Given the description of an element on the screen output the (x, y) to click on. 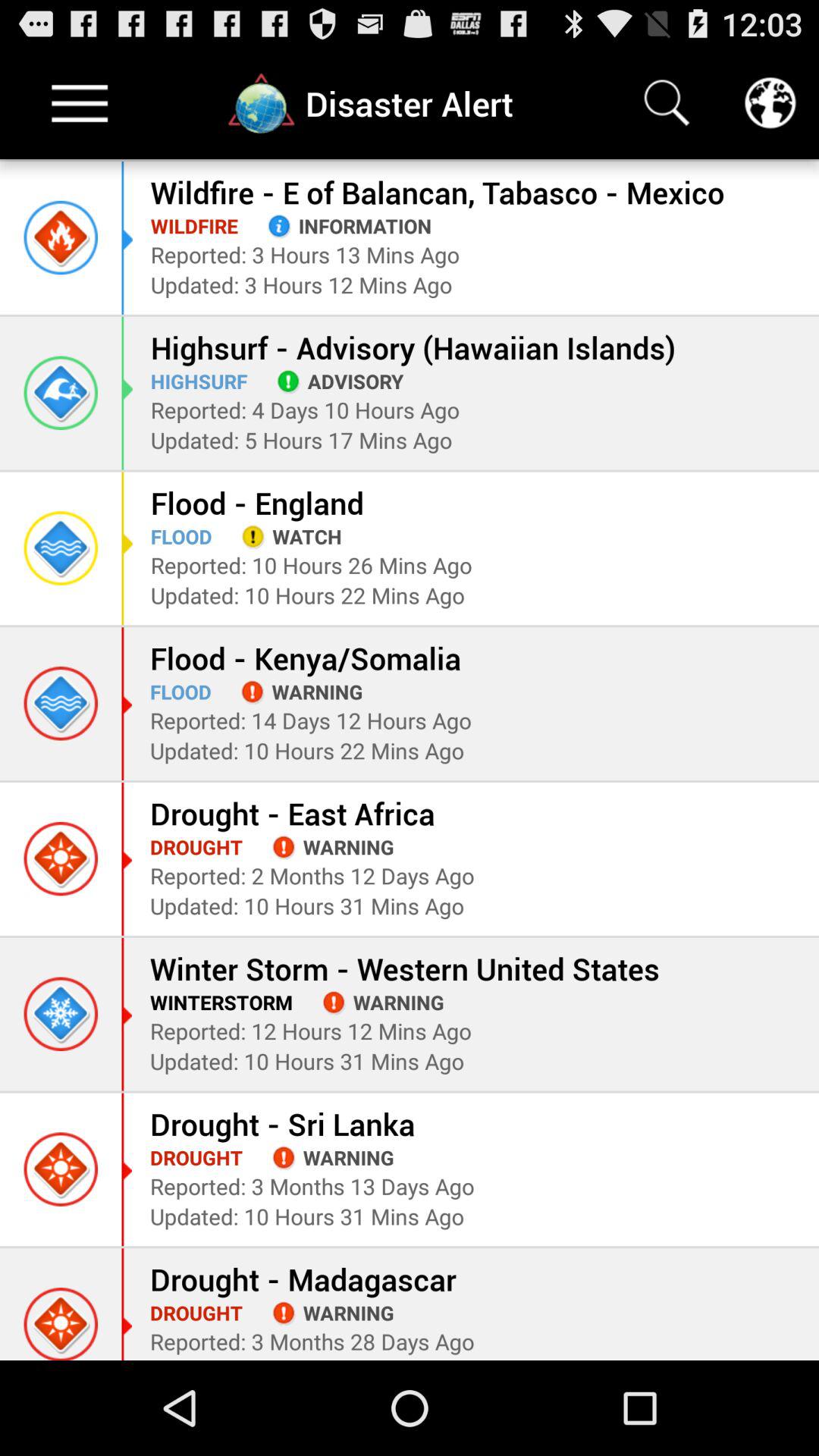
view map (770, 103)
